Given the description of an element on the screen output the (x, y) to click on. 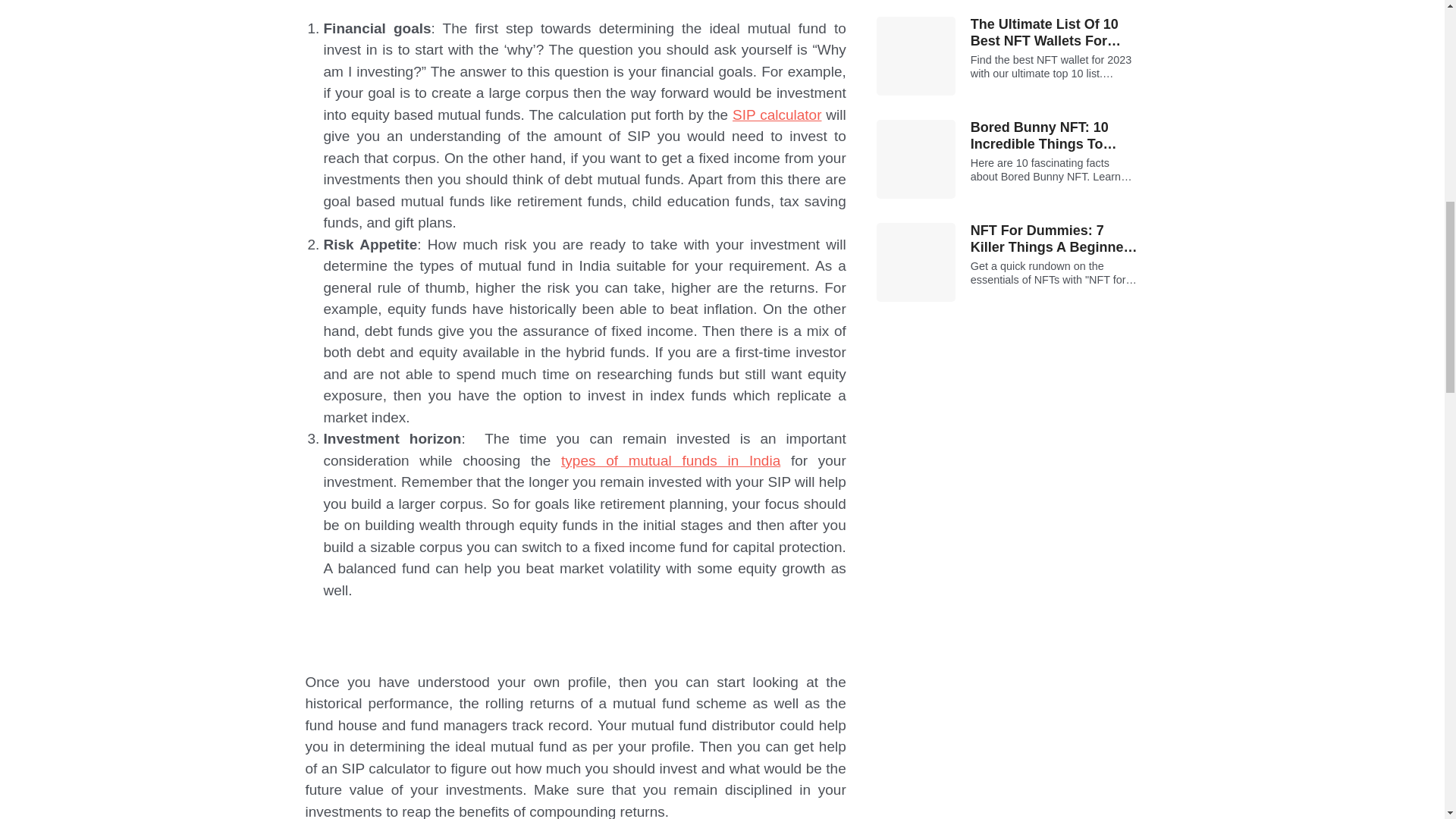
types of mutual funds in India (670, 460)
SIP calculator (776, 114)
